Given the description of an element on the screen output the (x, y) to click on. 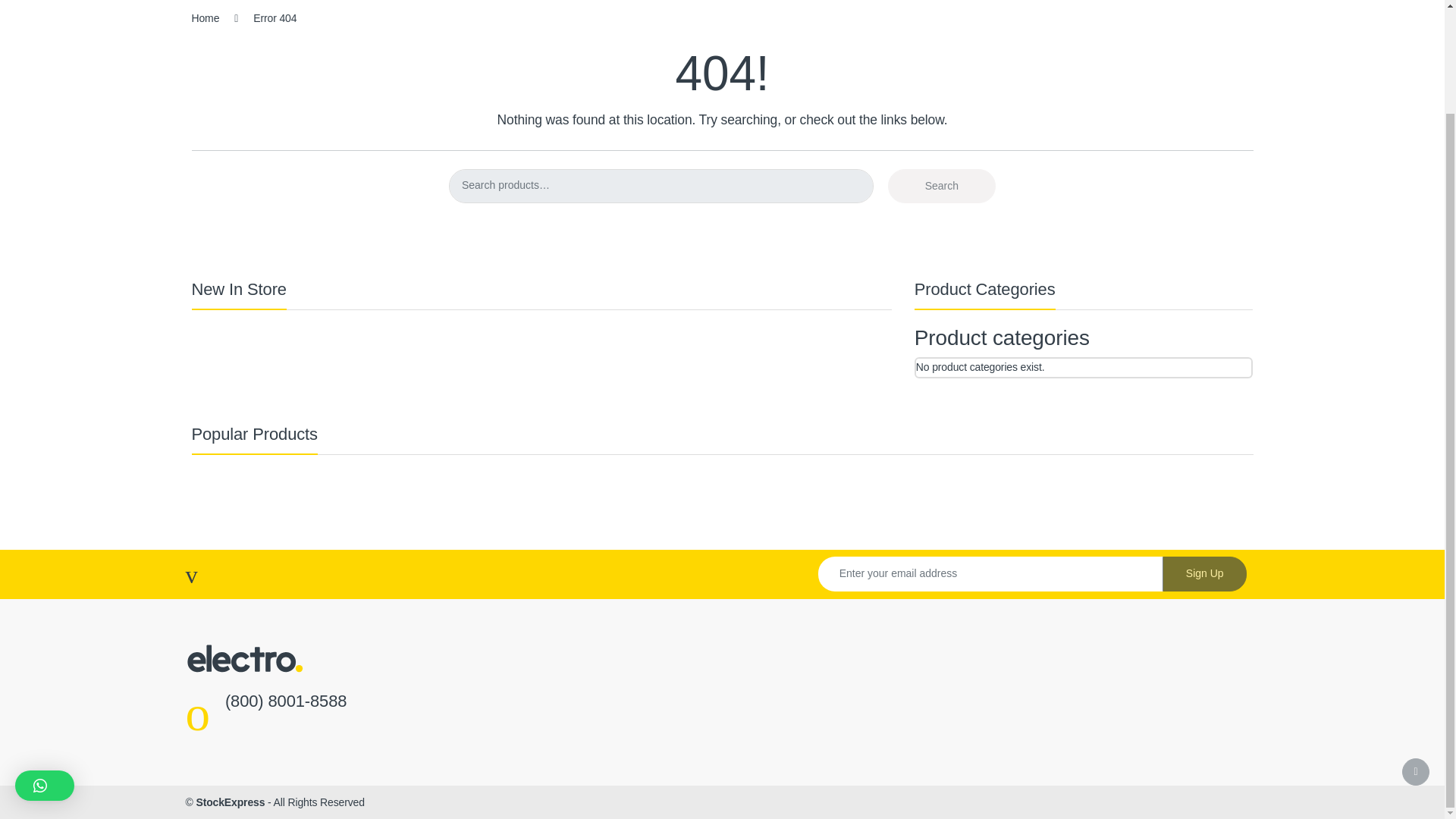
Search (941, 185)
StockExpress (229, 802)
Sign Up (1204, 573)
Home (204, 18)
